Given the description of an element on the screen output the (x, y) to click on. 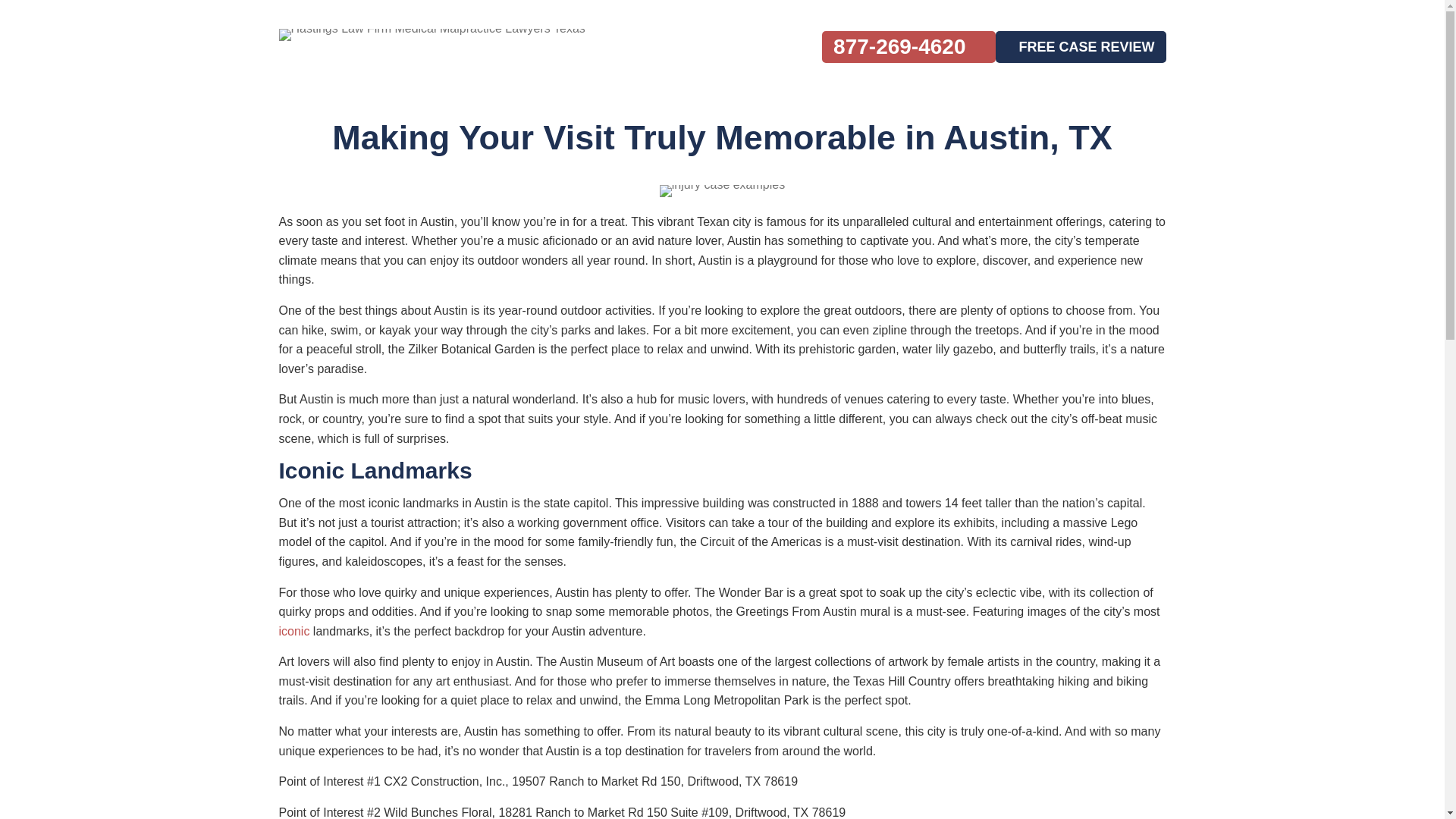
iconic (294, 631)
Hastings Law Firm Logo (432, 52)
877-269-4620 (908, 47)
Medmal Seperator (721, 191)
